Given the description of an element on the screen output the (x, y) to click on. 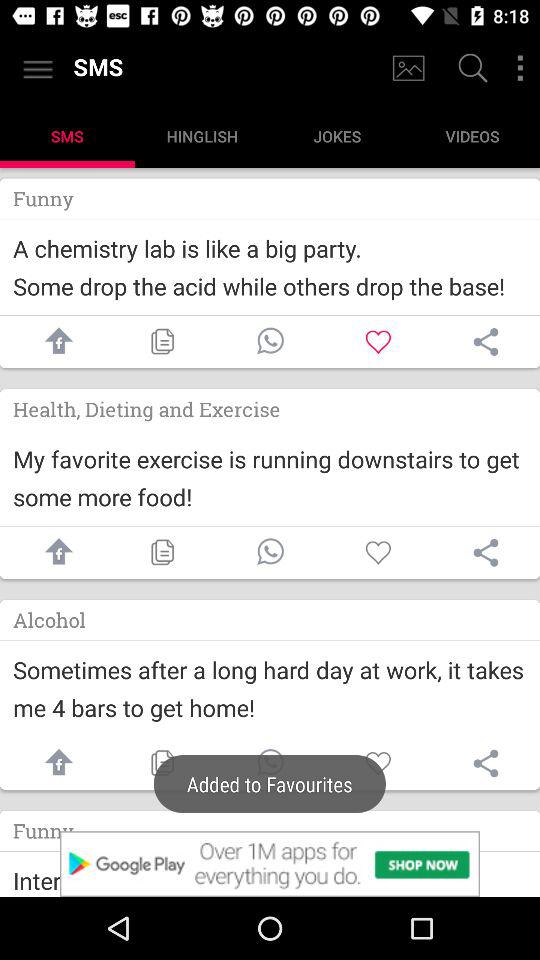
settings button (520, 67)
